Given the description of an element on the screen output the (x, y) to click on. 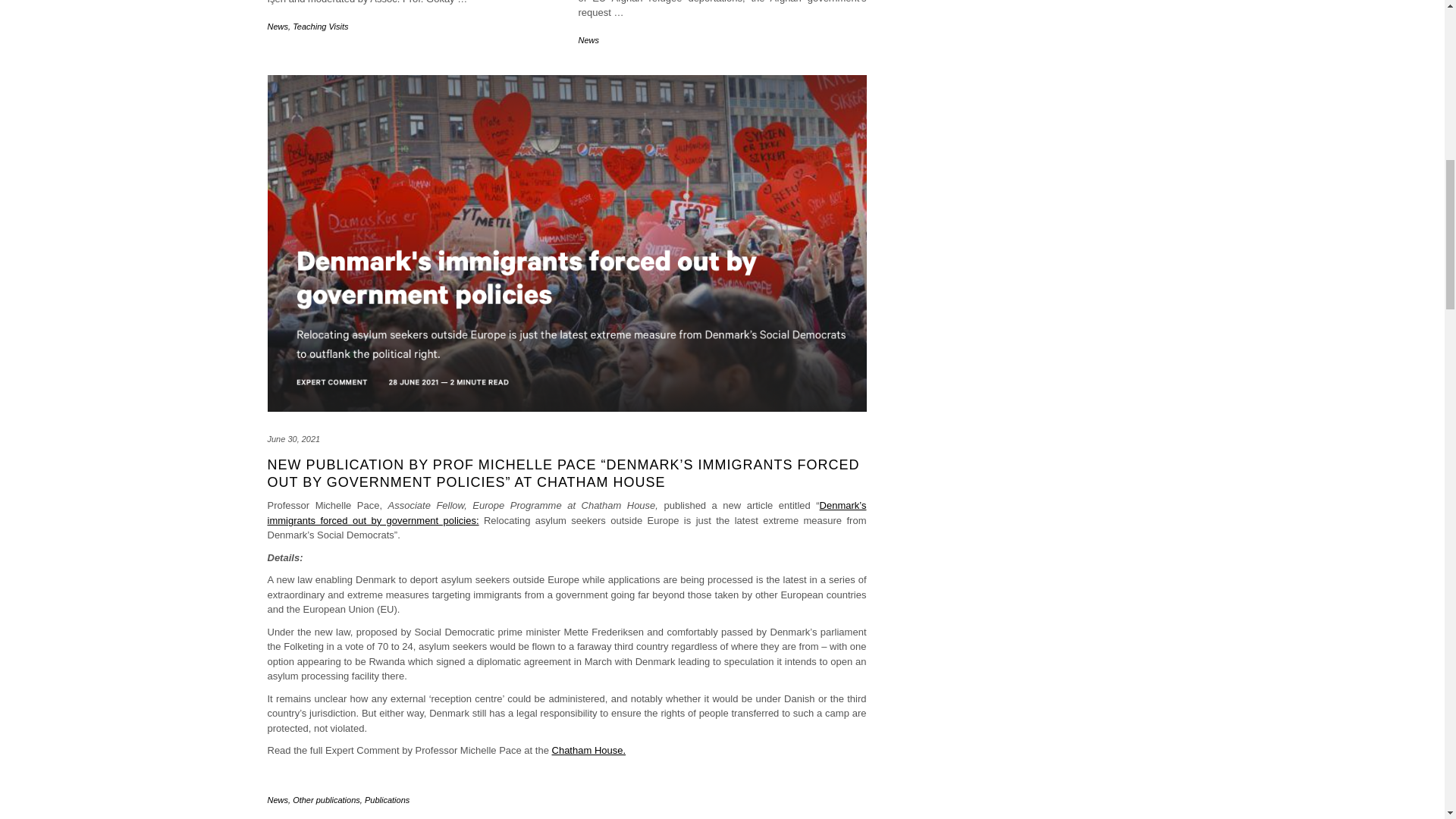
June 30, 2021 (293, 438)
News (277, 26)
Teaching Visits (319, 26)
News (277, 799)
Publications (387, 799)
Chatham House. (588, 749)
News (588, 40)
Other publications (325, 799)
